Given the description of an element on the screen output the (x, y) to click on. 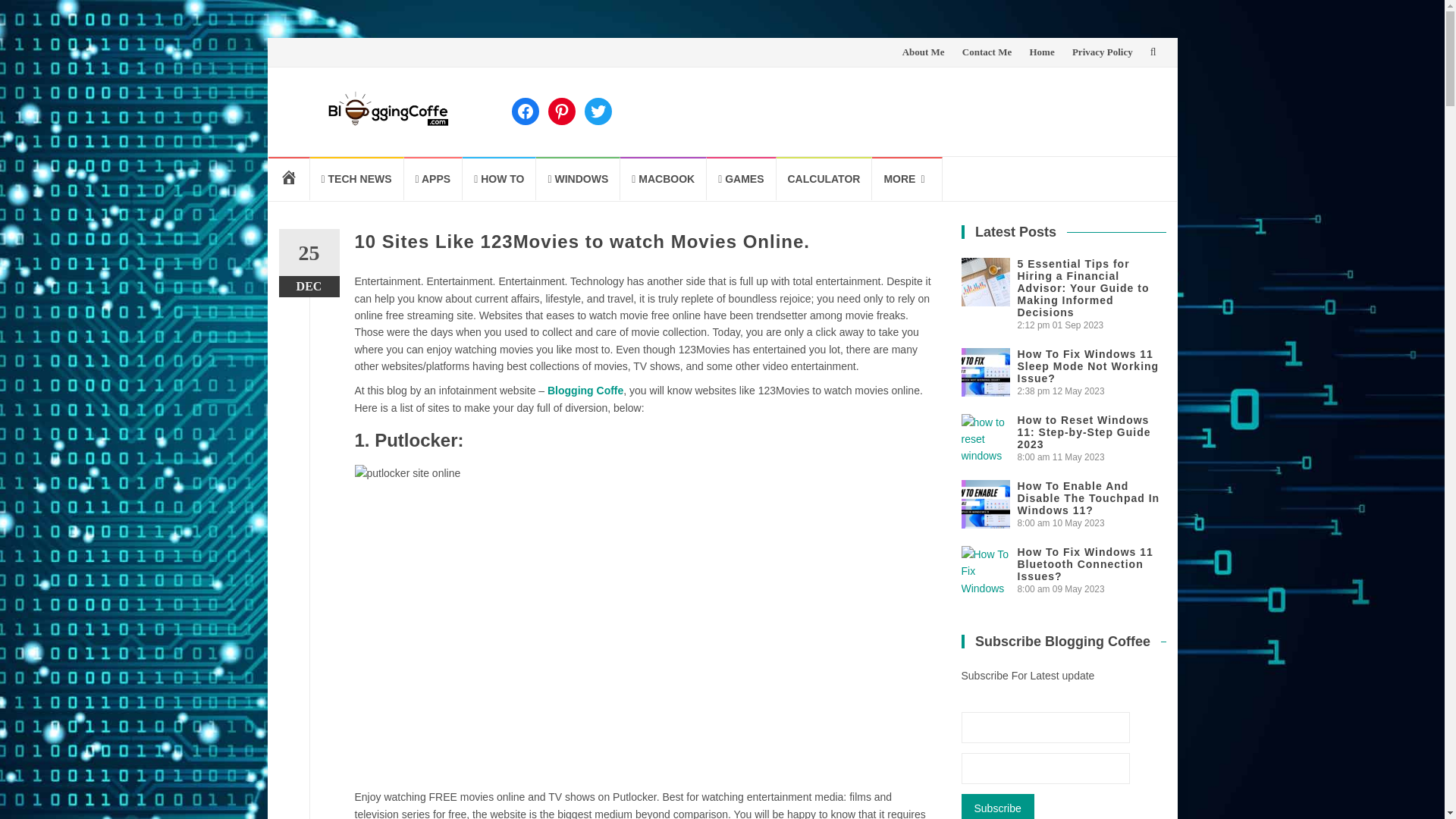
HOME (288, 178)
APPS (433, 178)
Contact Me (986, 51)
Pinterest (561, 111)
MACBOOK (663, 178)
About Me (923, 51)
TECH NEWS (355, 178)
Twitter (598, 111)
Home (1041, 51)
